Given the description of an element on the screen output the (x, y) to click on. 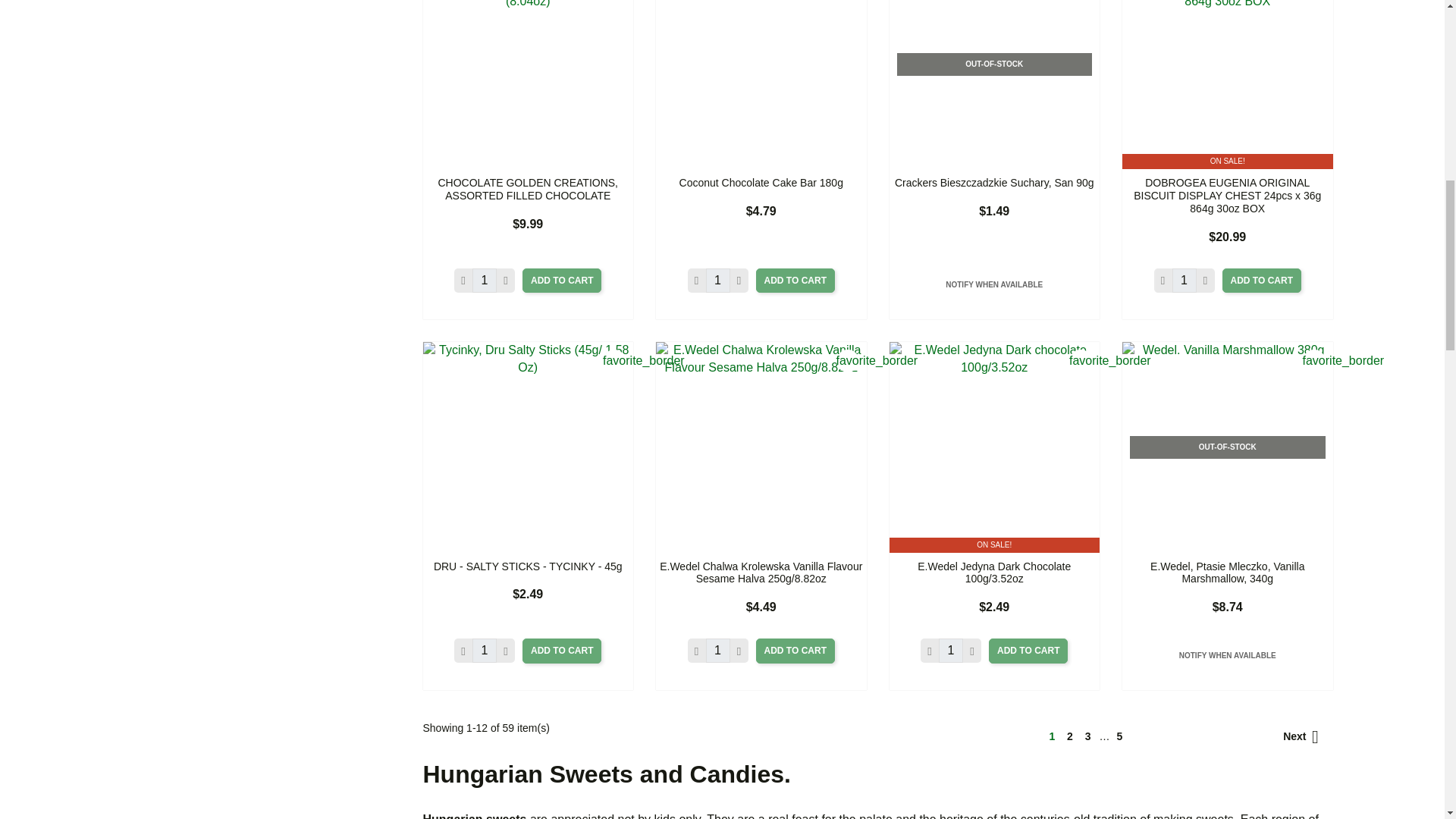
1 (483, 280)
1 (1184, 280)
1 (483, 650)
1 (718, 650)
1 (718, 280)
1 (950, 650)
